Given the description of an element on the screen output the (x, y) to click on. 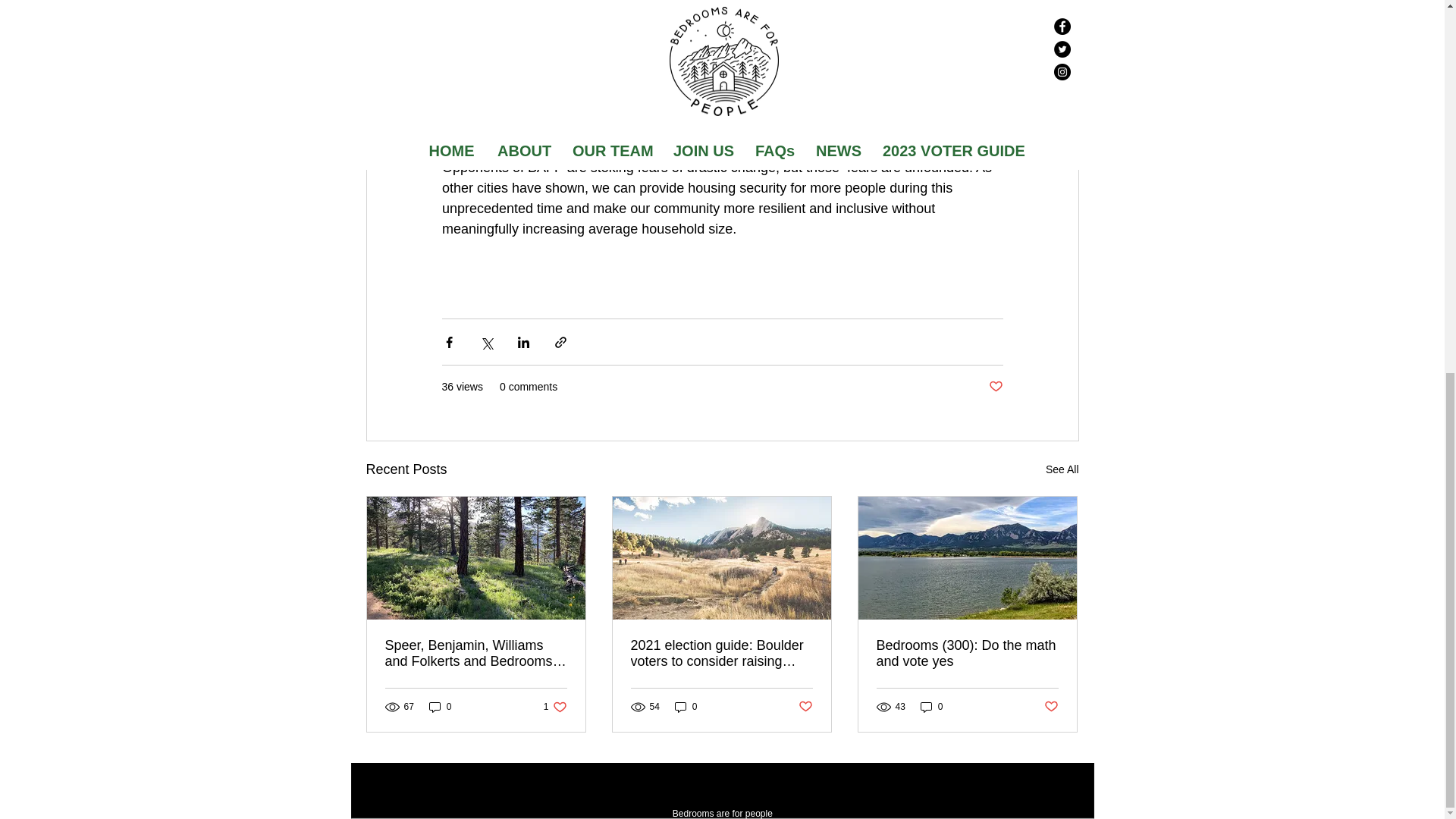
Post not marked as liked (804, 706)
0 (440, 706)
0 (931, 706)
See All (555, 706)
0 (1061, 469)
Post not marked as liked (685, 706)
Post not marked as liked (995, 386)
